Given the description of an element on the screen output the (x, y) to click on. 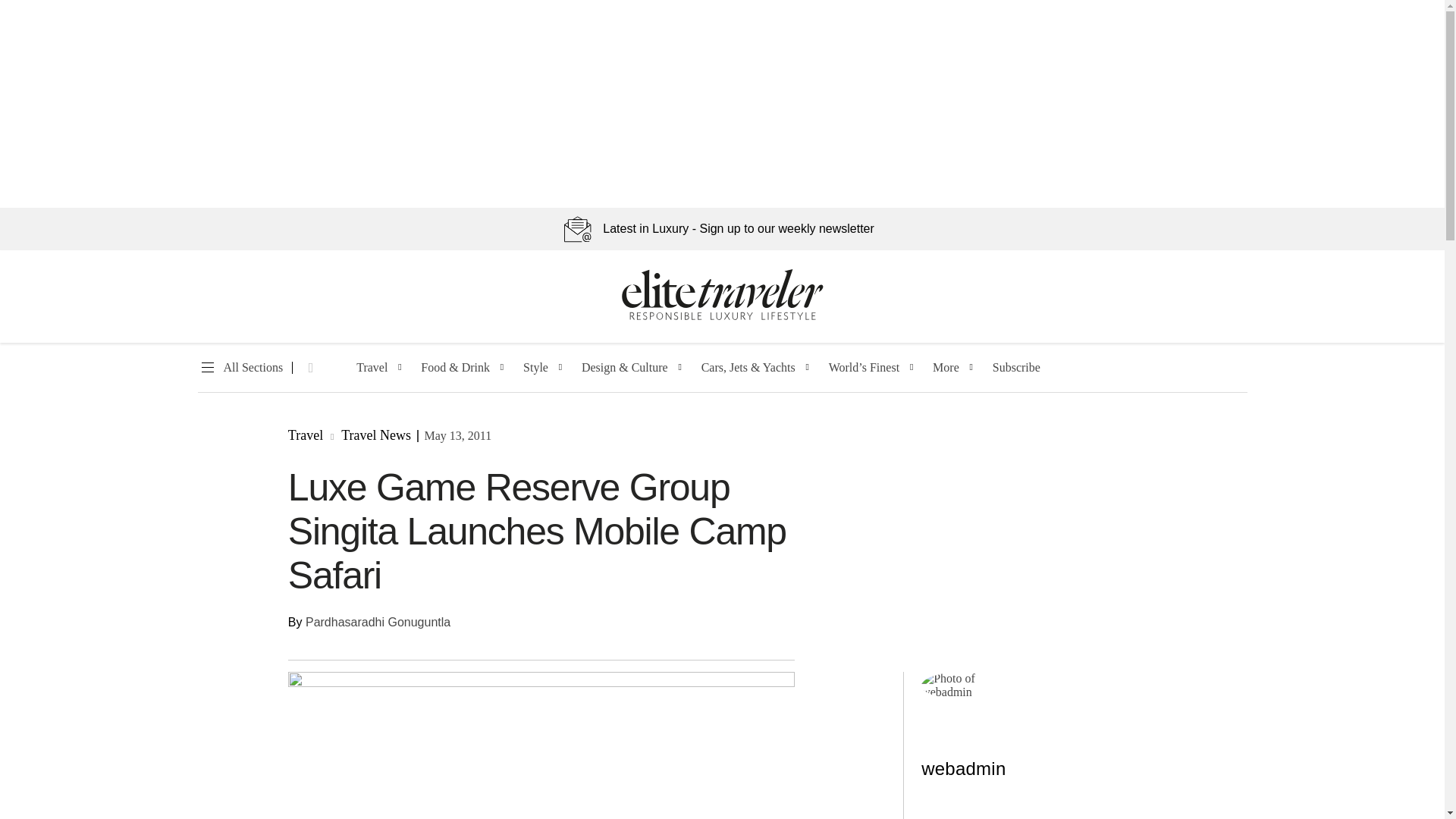
Elite Traveler (722, 317)
Travel (371, 368)
All Sections (239, 368)
